Given the description of an element on the screen output the (x, y) to click on. 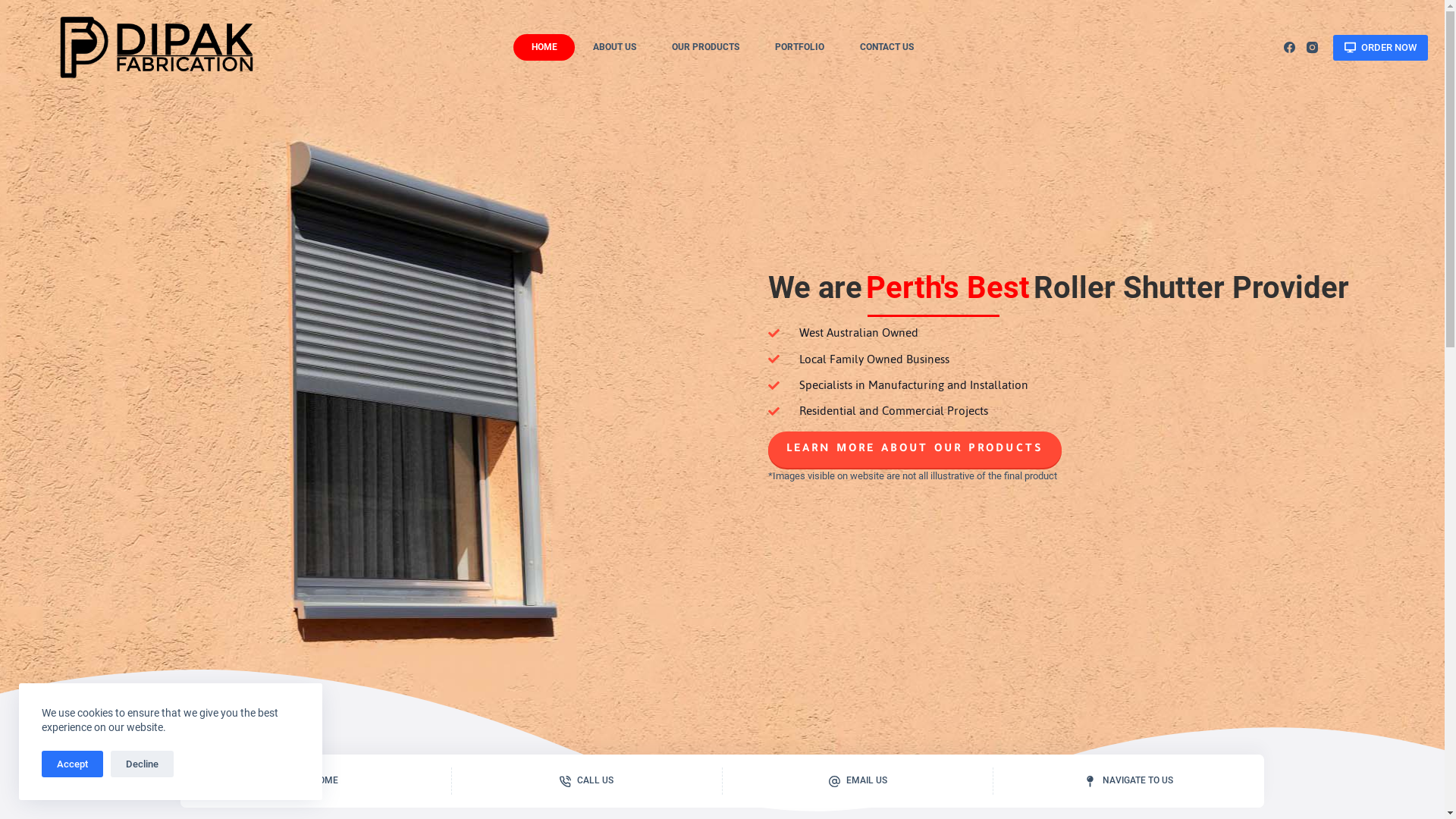
NAVIGATE TO US Element type: text (1128, 780)
Accept Element type: text (72, 763)
HOME Element type: text (543, 47)
ORDER NOW Element type: text (1380, 47)
PORTFOLIO Element type: text (798, 47)
Skip to content Element type: text (15, 7)
CALL US Element type: text (586, 780)
LEARN MORE ABOUT OUR PRODUCTS Element type: text (914, 449)
OUR PRODUCTS Element type: text (704, 47)
HOME Element type: text (315, 780)
CONTACT US Element type: text (886, 47)
ABOUT US Element type: text (613, 47)
EMAIL US Element type: text (857, 780)
Decline Element type: text (141, 763)
